Given the description of an element on the screen output the (x, y) to click on. 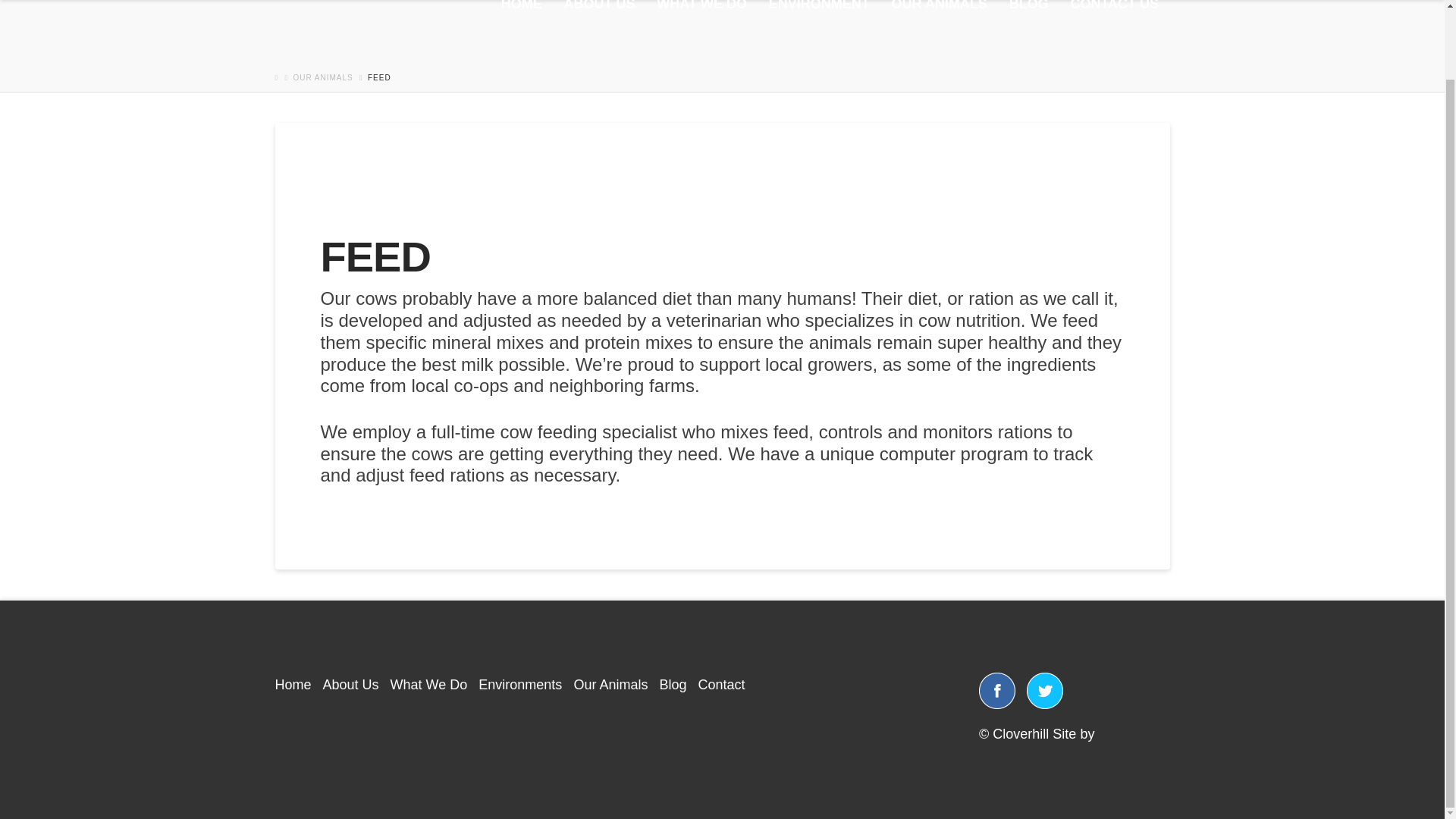
Home (293, 684)
ABOUT US (599, 36)
ENVIRONMENT (818, 36)
Environments (520, 684)
Contact (720, 684)
OUR ANIMALS (938, 36)
WHAT WE DO (701, 36)
OUR ANIMALS (322, 77)
CONTACT US (1114, 36)
About Us (350, 684)
Our Animals (610, 684)
Blog (672, 684)
What We Do (428, 684)
